Given the description of an element on the screen output the (x, y) to click on. 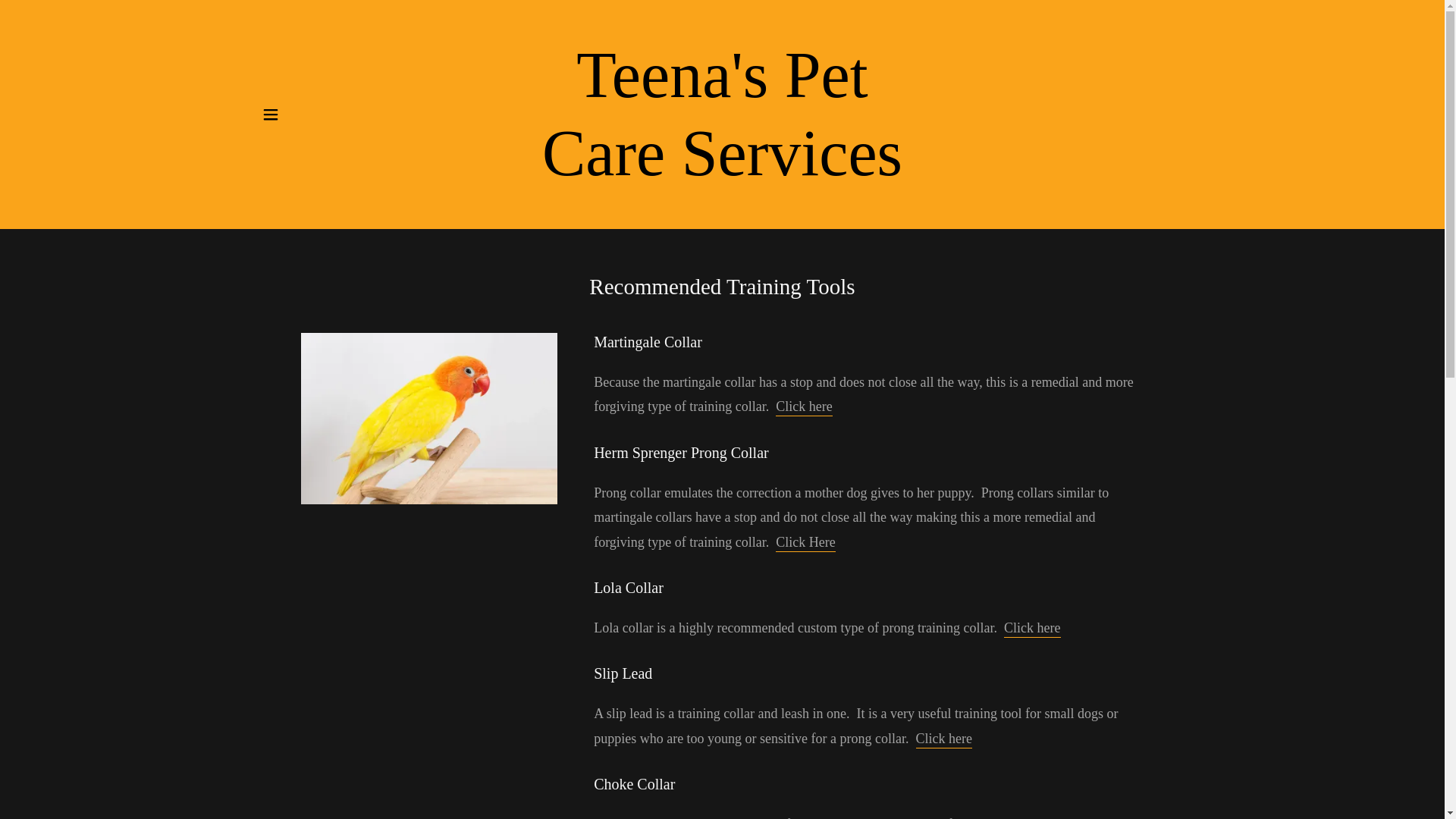
Click Here (805, 543)
Click here (721, 170)
Teena's Pet Care Services (1031, 628)
Click here (721, 170)
Click here (803, 407)
